Given the description of an element on the screen output the (x, y) to click on. 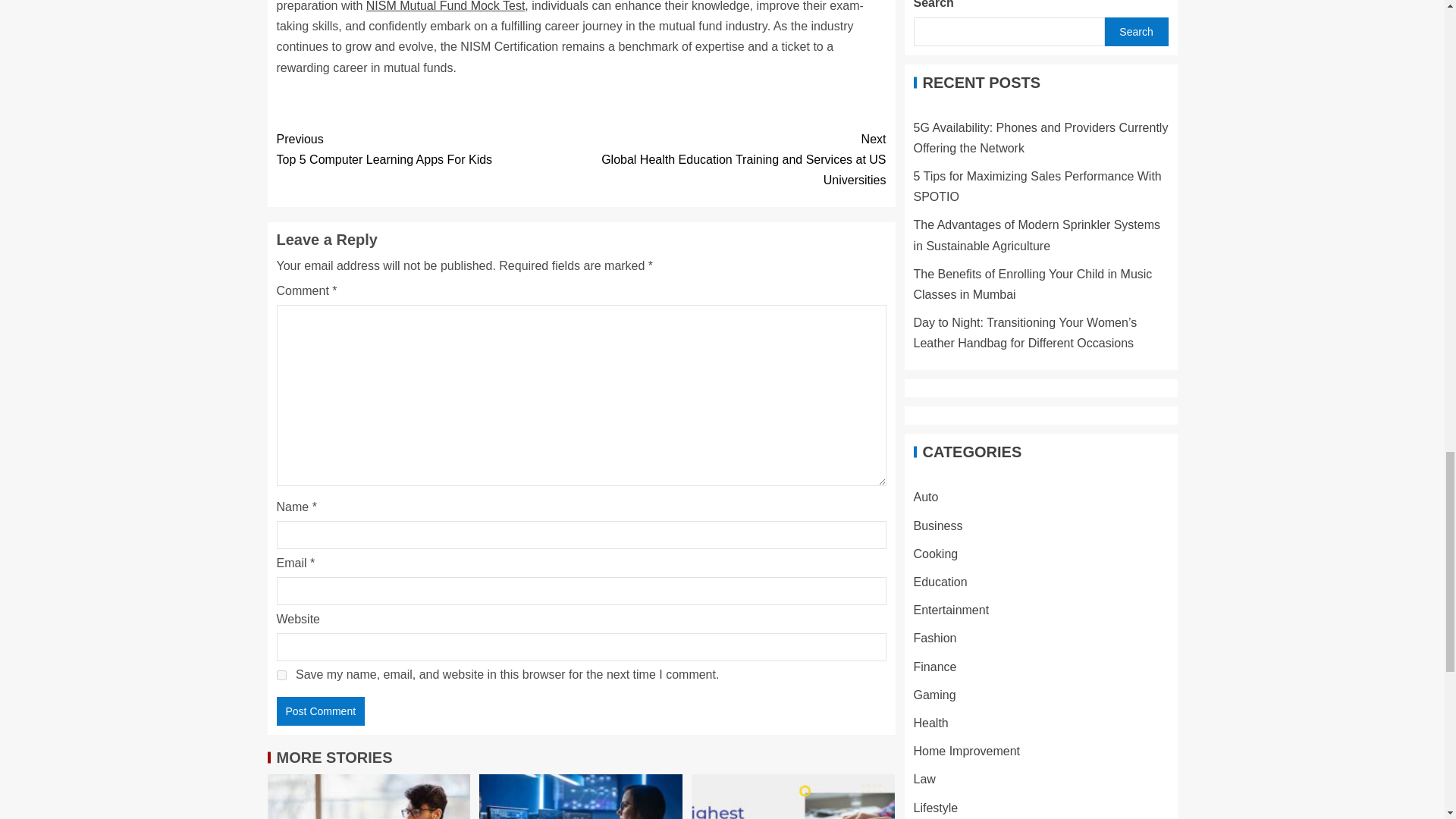
Post Comment (320, 710)
yes (428, 148)
NISM Mutual Fund Mock Test (280, 675)
